Given the description of an element on the screen output the (x, y) to click on. 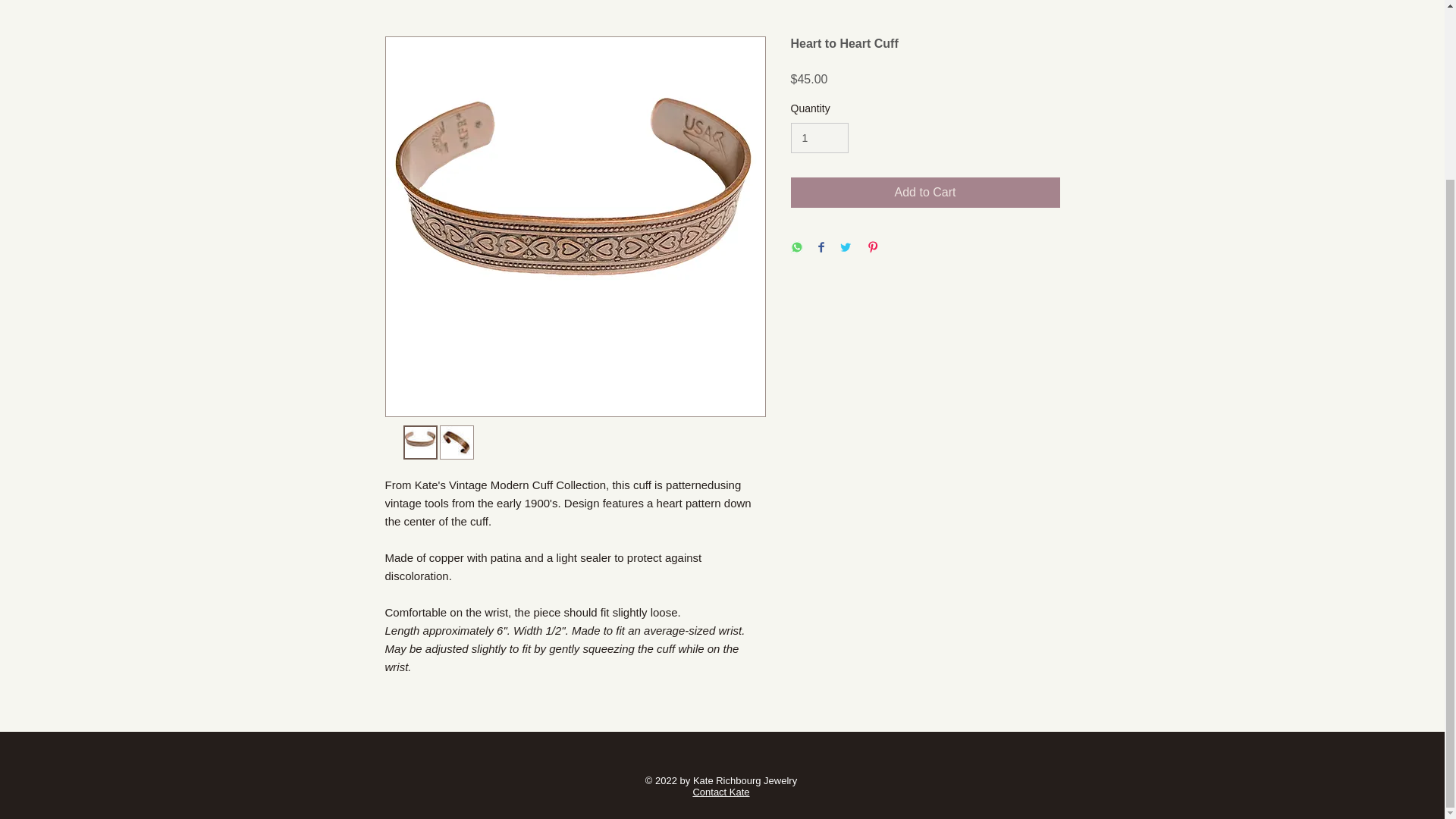
Add to Cart (924, 192)
1 (818, 137)
Contact Kate (721, 791)
